Given the description of an element on the screen output the (x, y) to click on. 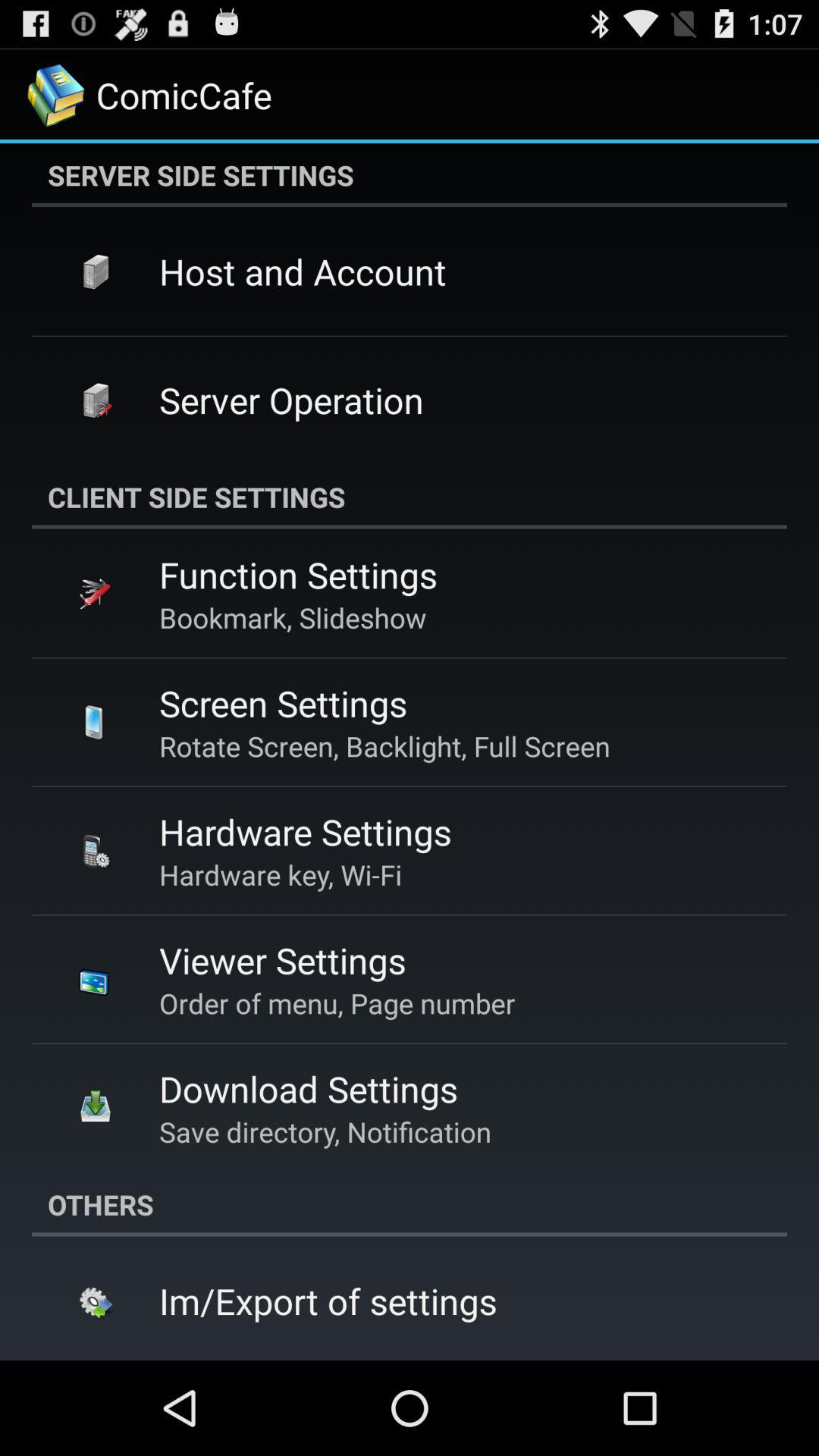
select icon above the client side settings icon (291, 399)
